Given the description of an element on the screen output the (x, y) to click on. 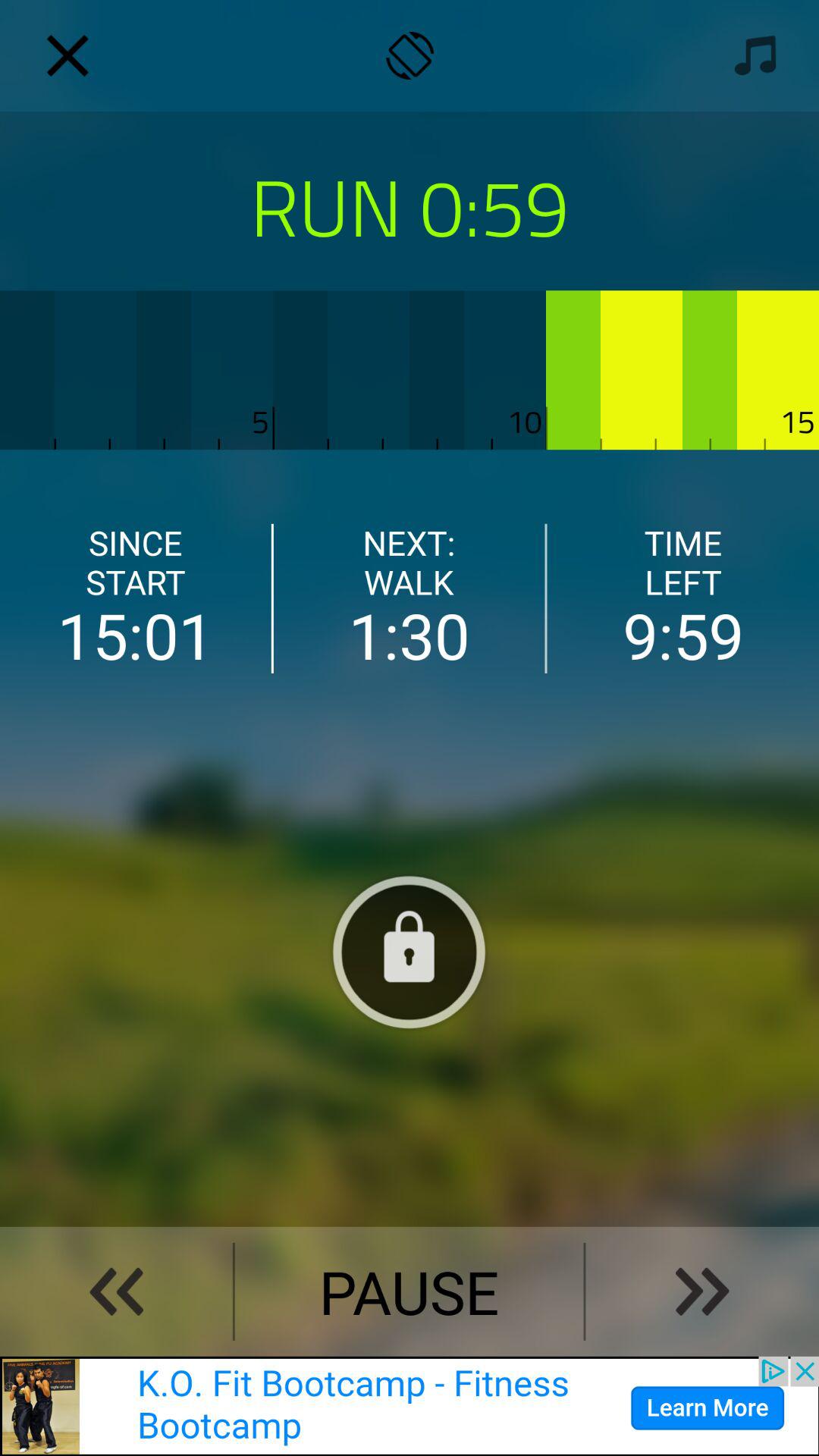
flip screen (409, 55)
